Given the description of an element on the screen output the (x, y) to click on. 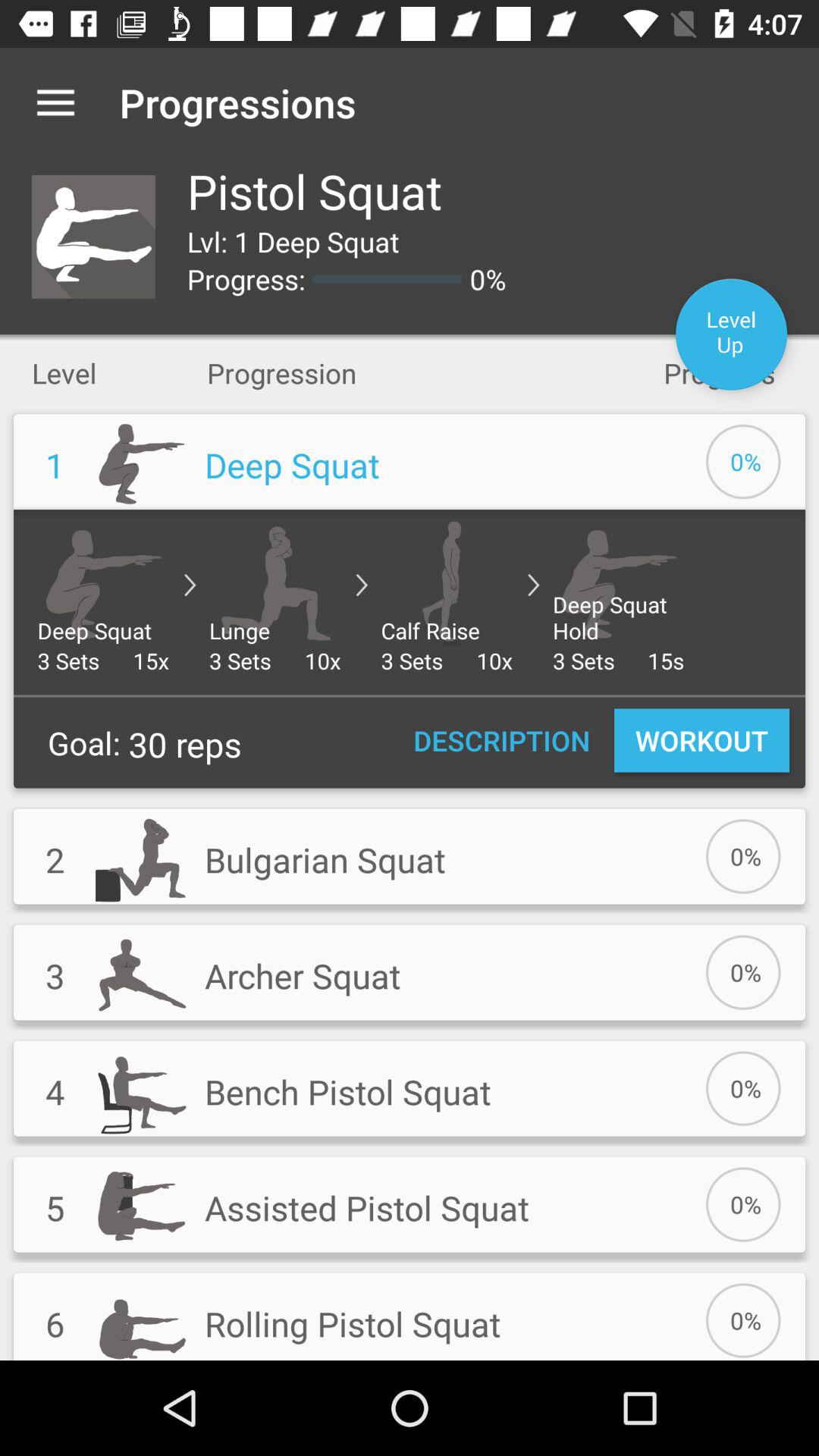
select the item next to description item (701, 740)
